Given the description of an element on the screen output the (x, y) to click on. 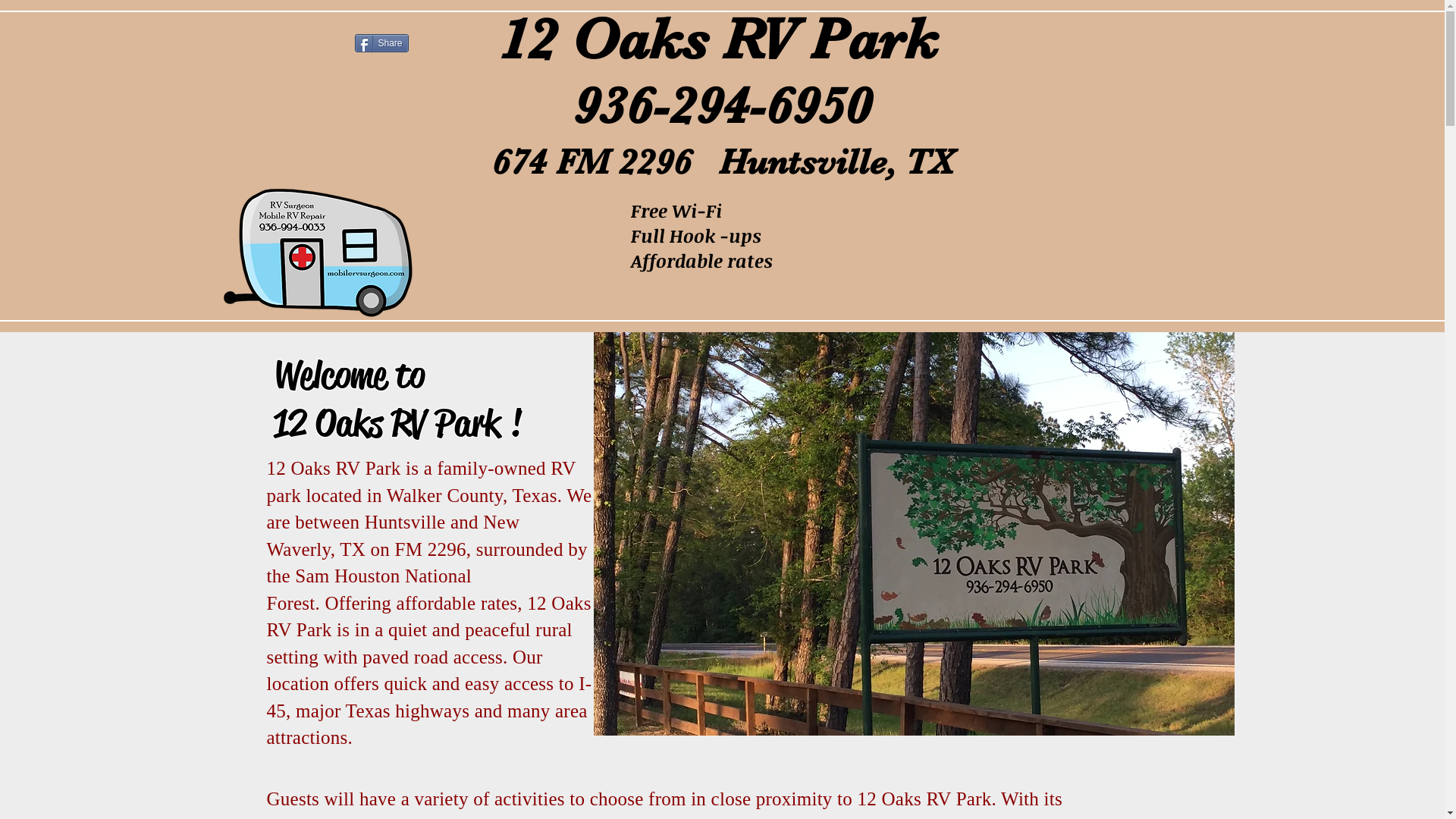
Share Element type: text (381, 43)
Facebook Like Element type: hover (312, 42)
